Given the description of an element on the screen output the (x, y) to click on. 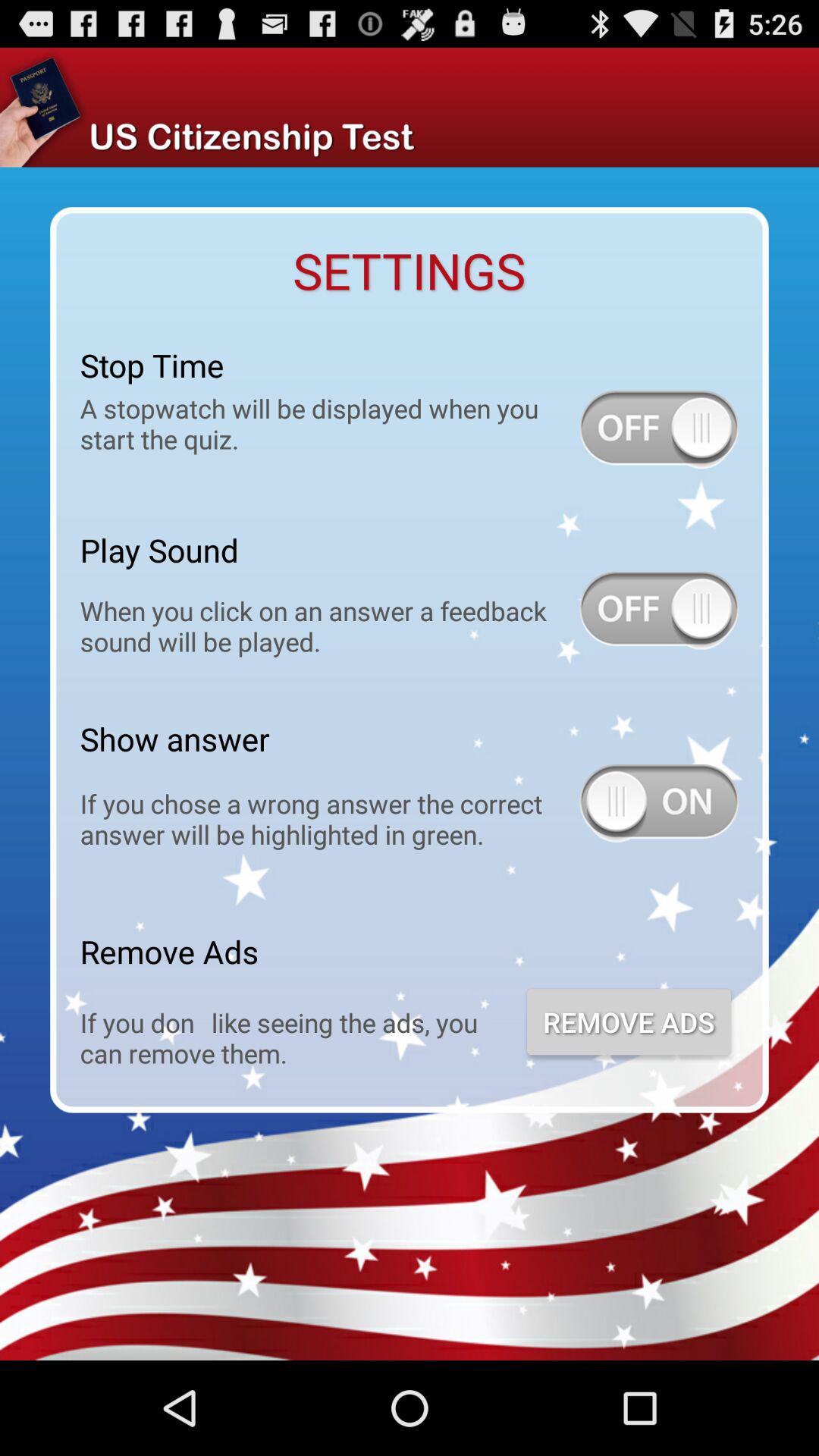
toggle play sounds (658, 610)
